Given the description of an element on the screen output the (x, y) to click on. 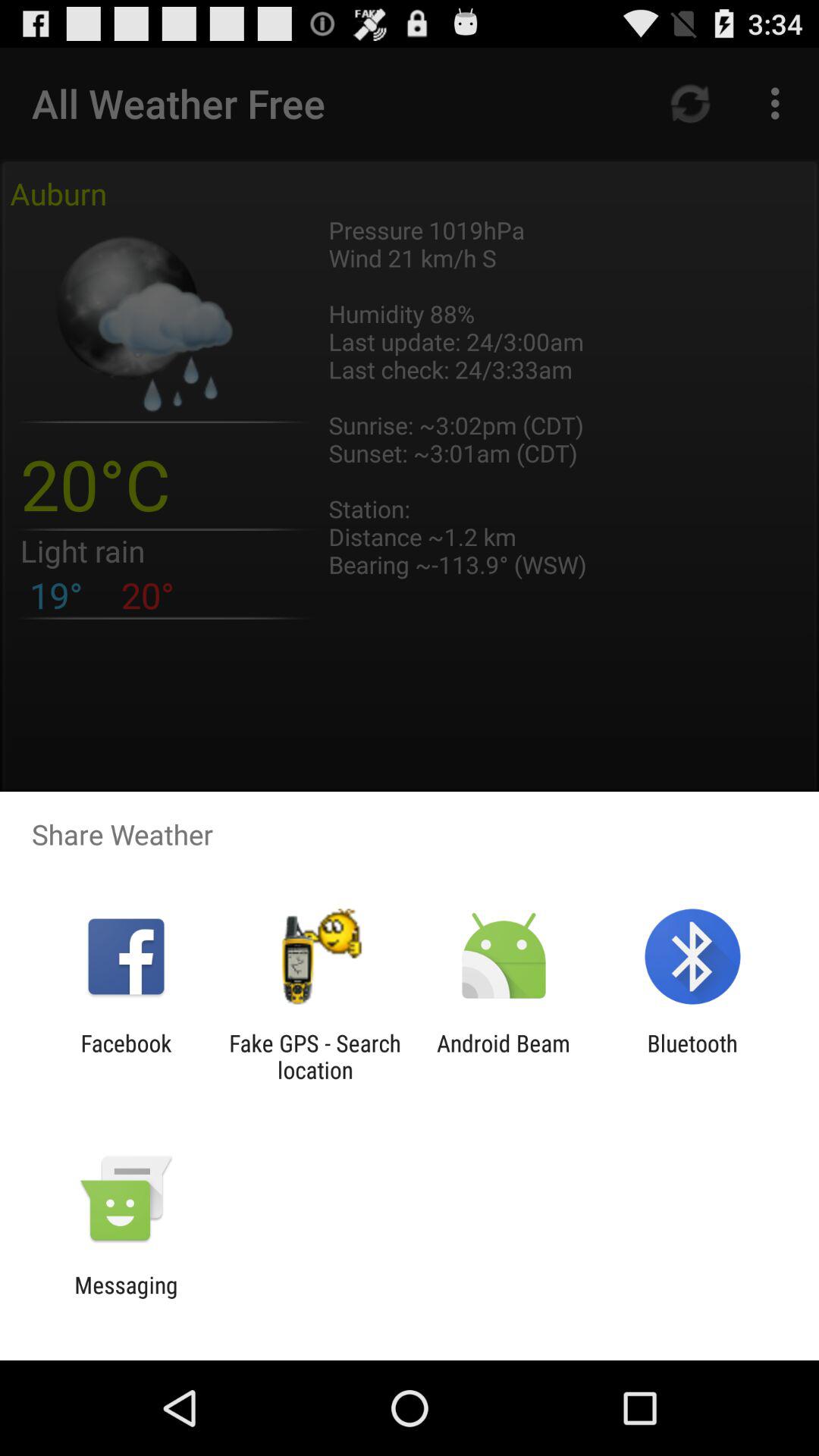
flip until facebook item (125, 1056)
